Given the description of an element on the screen output the (x, y) to click on. 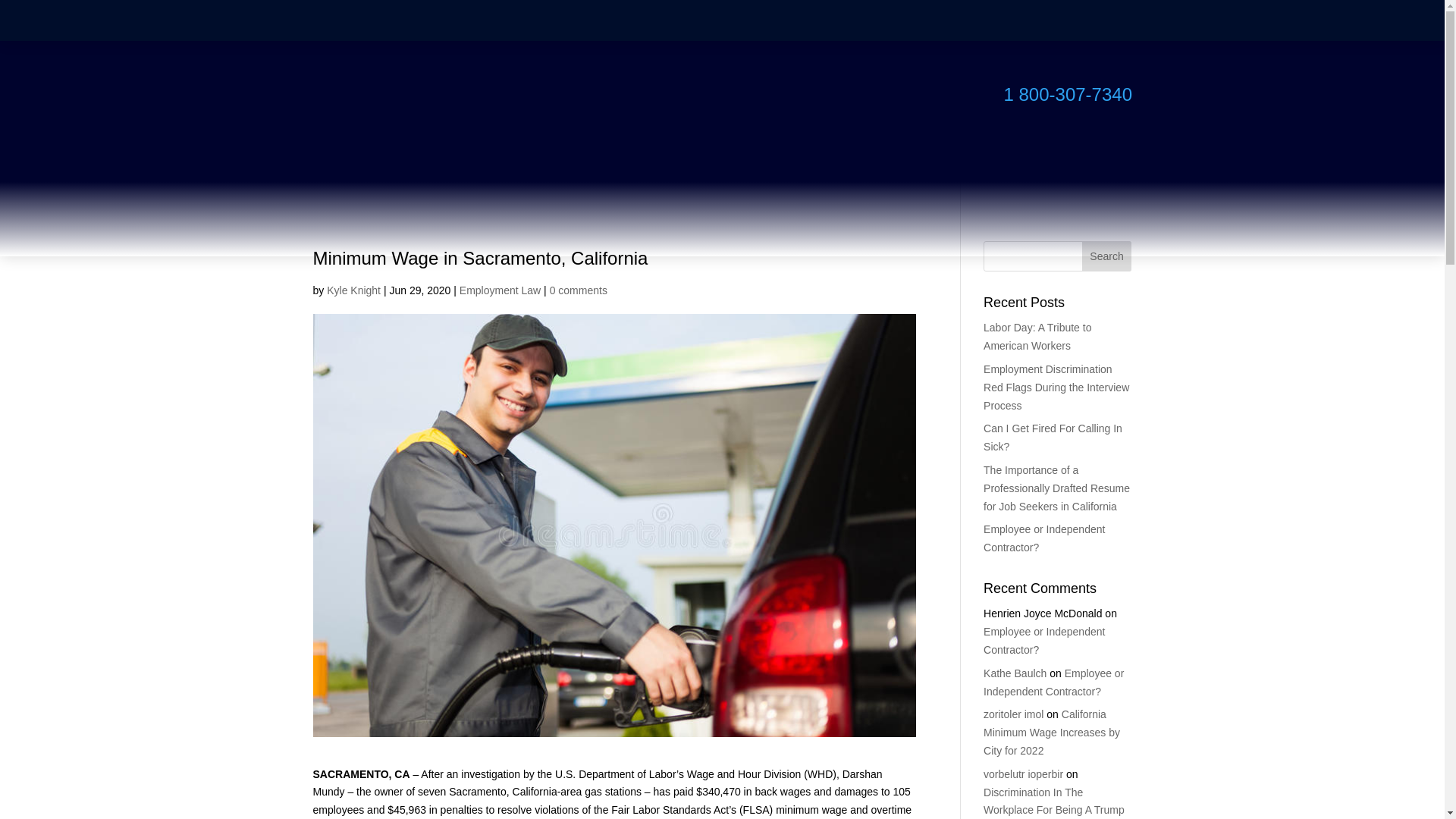
vorbelutr ioperbir (1023, 774)
Search (1106, 255)
1 800-307-7340 (1068, 94)
0 comments (578, 290)
Discrimination In The Workplace For Being A Trump Supporter (1054, 802)
California Minimum Wage Increases by City for 2022 (1051, 732)
Can I Get Fired For Calling In Sick? (1053, 437)
Kathe Baulch (1015, 673)
Employee or Independent Contractor? (1044, 640)
